Given the description of an element on the screen output the (x, y) to click on. 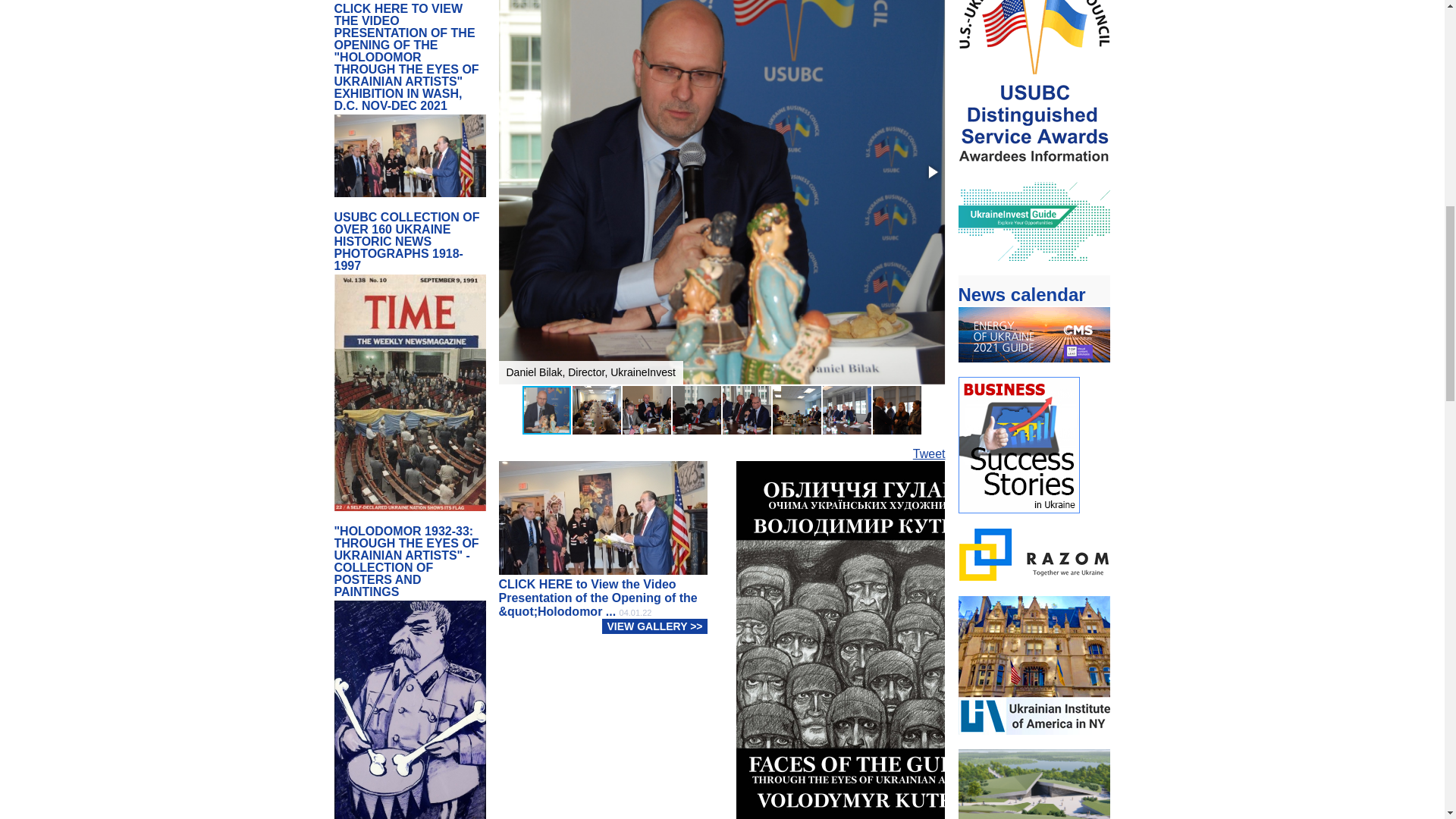
Ukrainian Institute of America in New York (1033, 777)
CMS Energy of Ukraine 2021 Guide (1033, 369)
Business Success Stories in Ukraine (1033, 596)
UkraineInvest Guide (1033, 314)
Razom (1033, 588)
Recordings of all USUBC Webinars (1033, 50)
